Given the description of an element on the screen output the (x, y) to click on. 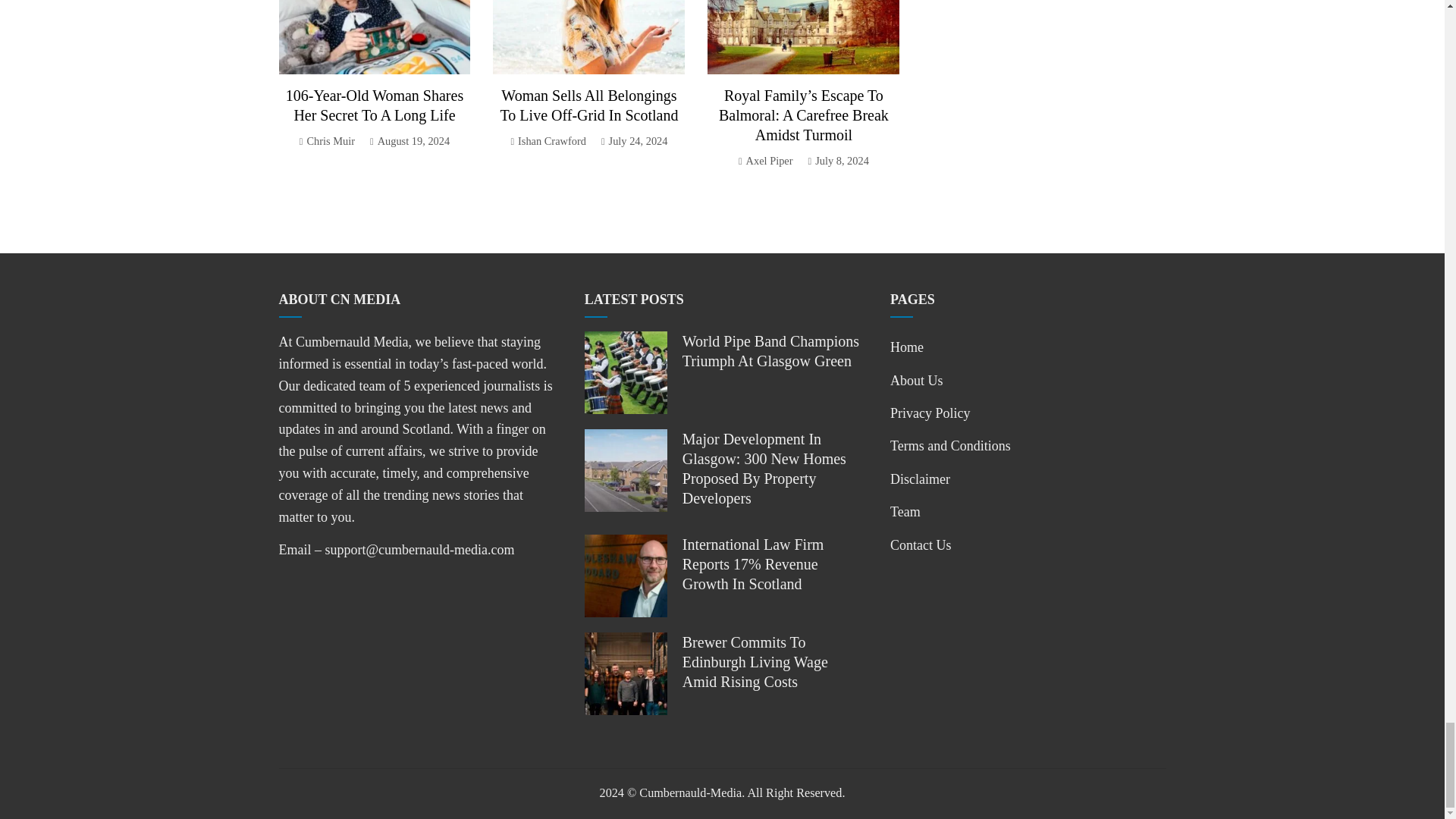
106-Year-Old Woman Shares Her Secret To A Long Life (374, 104)
106-Year-Old Woman Shares Her Secret to a Long Life (374, 104)
Woman Sells All Belongings to Live Off-Grid in Scotland (589, 104)
